Given the description of an element on the screen output the (x, y) to click on. 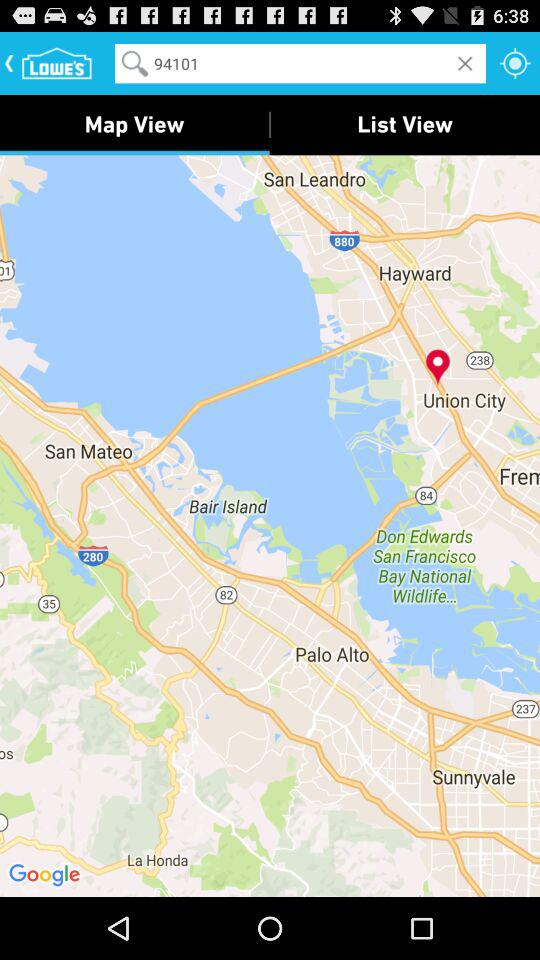
choose the item at the center (270, 525)
